Given the description of an element on the screen output the (x, y) to click on. 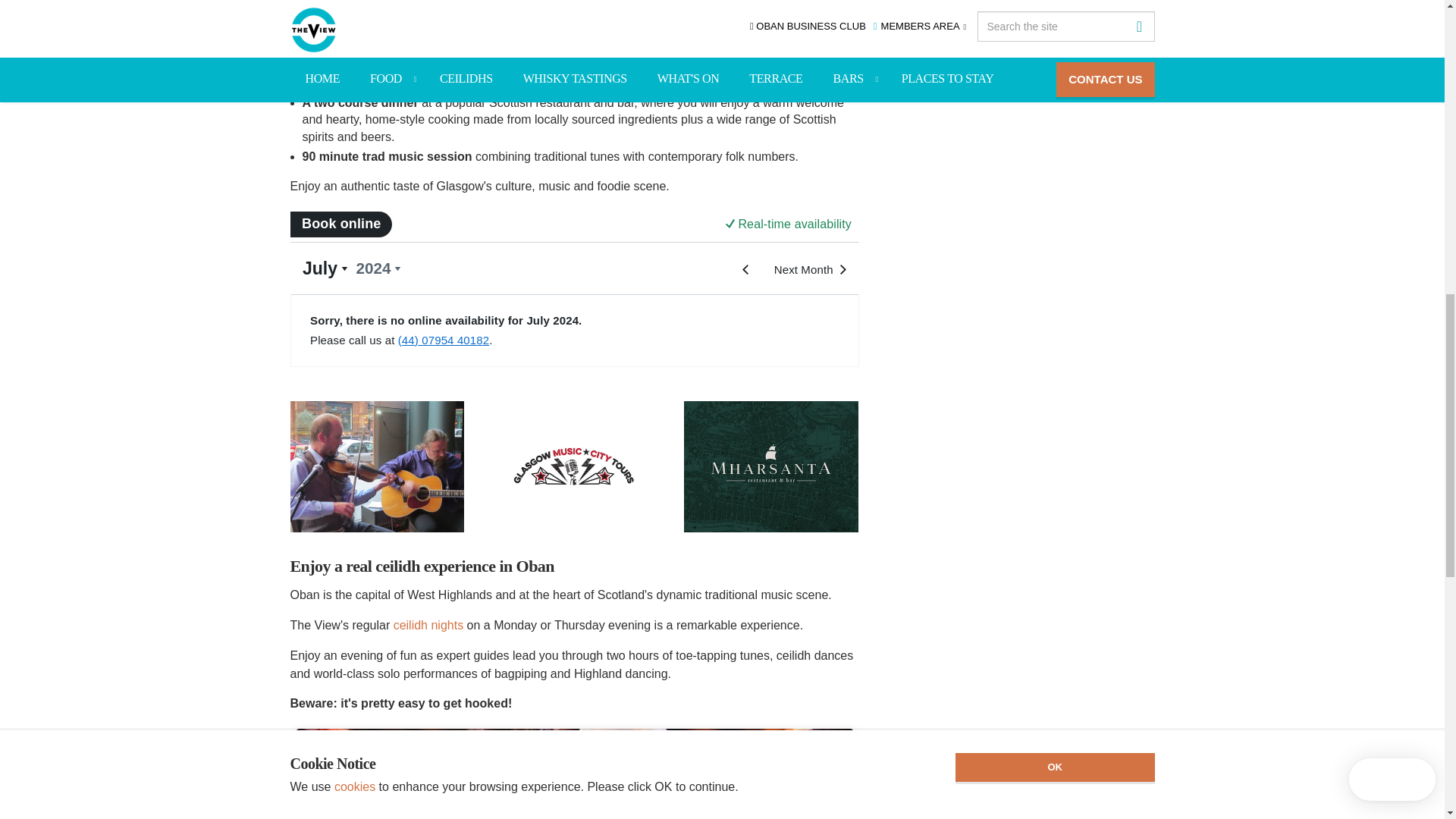
FareHarbor (574, 771)
FareHarbor (574, 286)
ceilidh nights (428, 625)
Mharsanta. (632, 6)
FareHarbor (1342, 64)
Ceilidhs (428, 625)
